Given the description of an element on the screen output the (x, y) to click on. 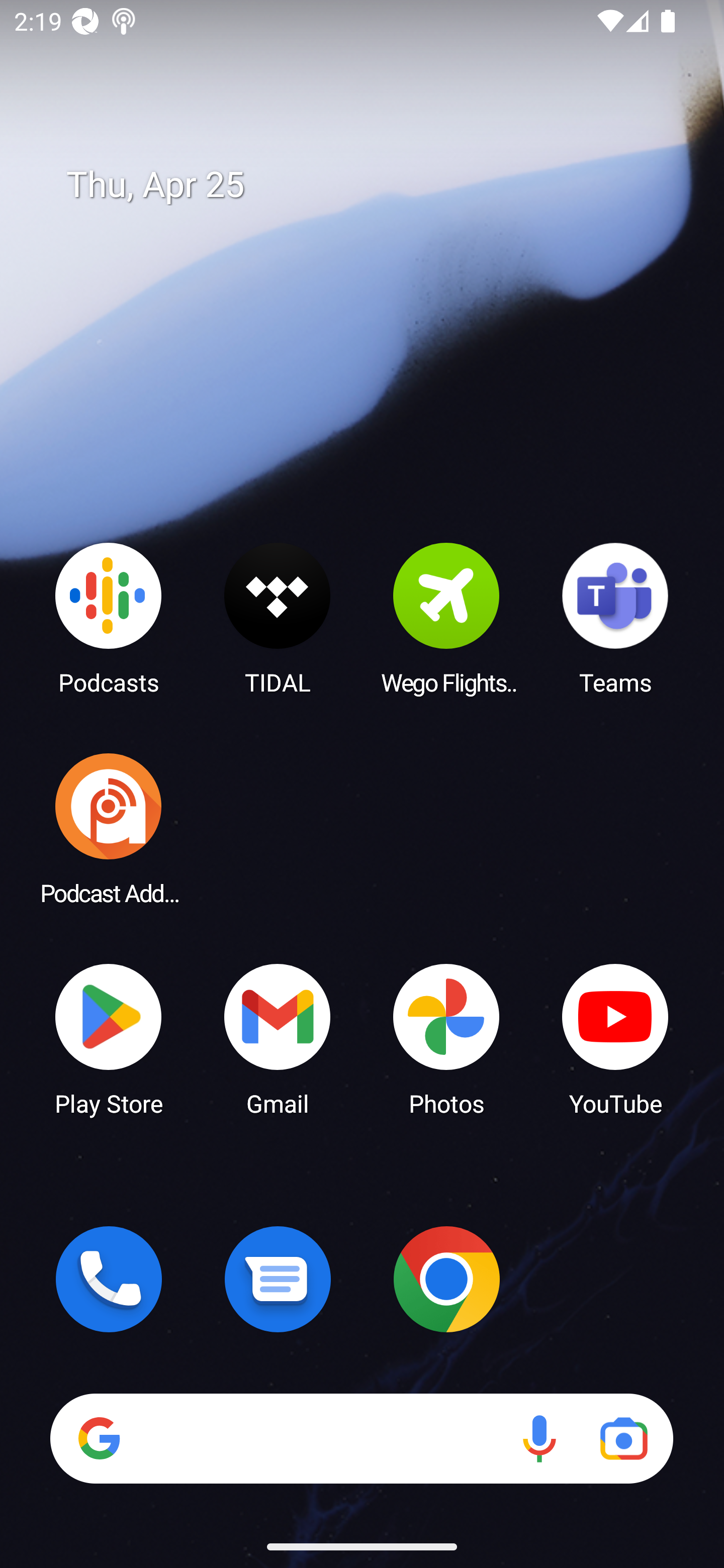
Thu, Apr 25 (375, 184)
Podcasts (108, 617)
TIDAL (277, 617)
Wego Flights & Hotels (445, 617)
Teams (615, 617)
Podcast Addict (108, 828)
Play Store (108, 1038)
Gmail (277, 1038)
Photos (445, 1038)
YouTube (615, 1038)
Phone (108, 1279)
Messages (277, 1279)
Chrome (446, 1279)
Search Voice search Google Lens (361, 1438)
Voice search (539, 1438)
Google Lens (623, 1438)
